Given the description of an element on the screen output the (x, y) to click on. 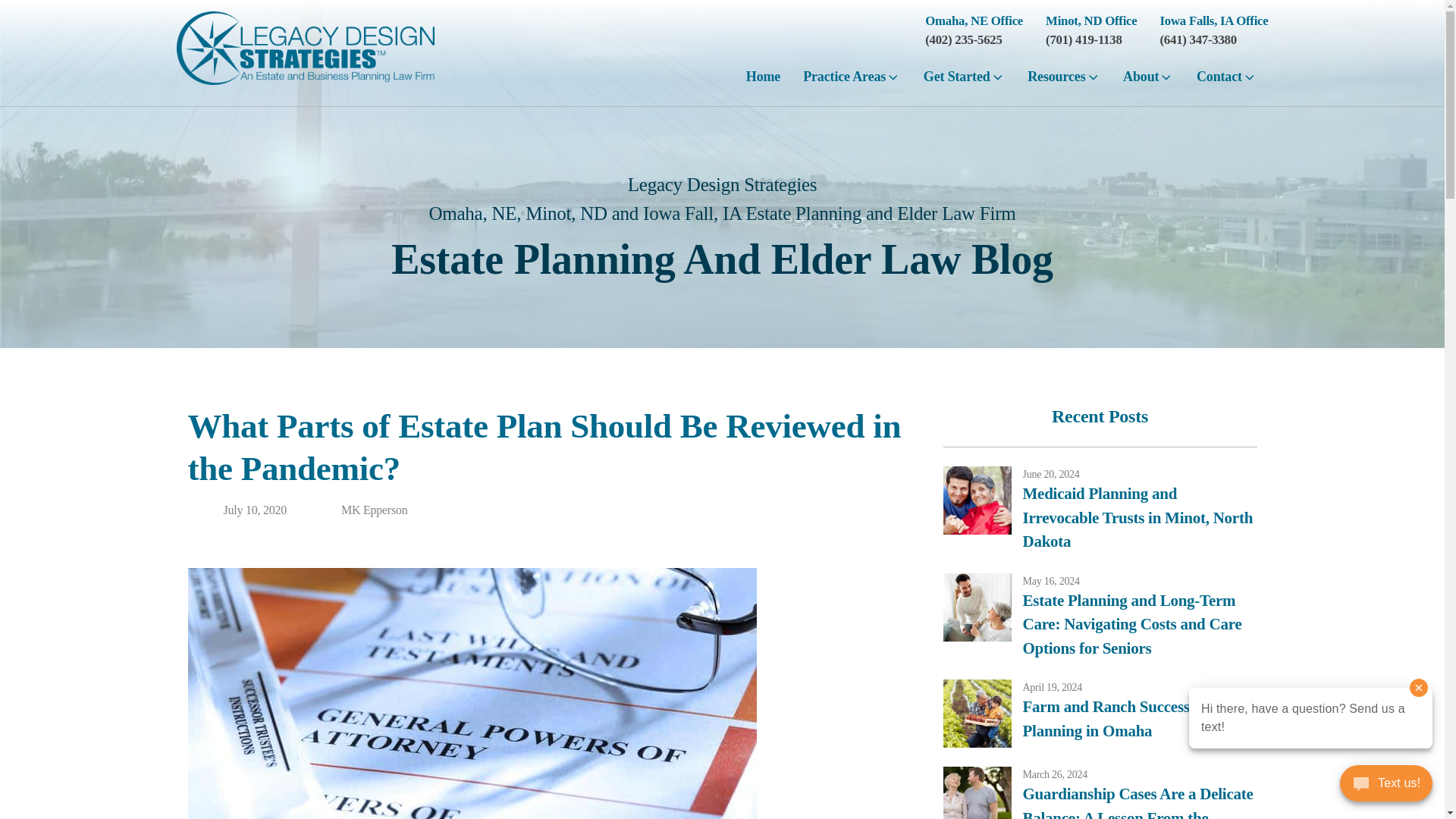
Home (763, 82)
Minot, ND Office (1091, 20)
Iowa Falls, IA Office (1214, 20)
Get Started (964, 82)
Resources (1064, 82)
About (1148, 82)
Omaha, NE Office (973, 20)
Practice Areas (852, 82)
Farm and Ranch Succession Planning in Omaha (1139, 718)
